Given the description of an element on the screen output the (x, y) to click on. 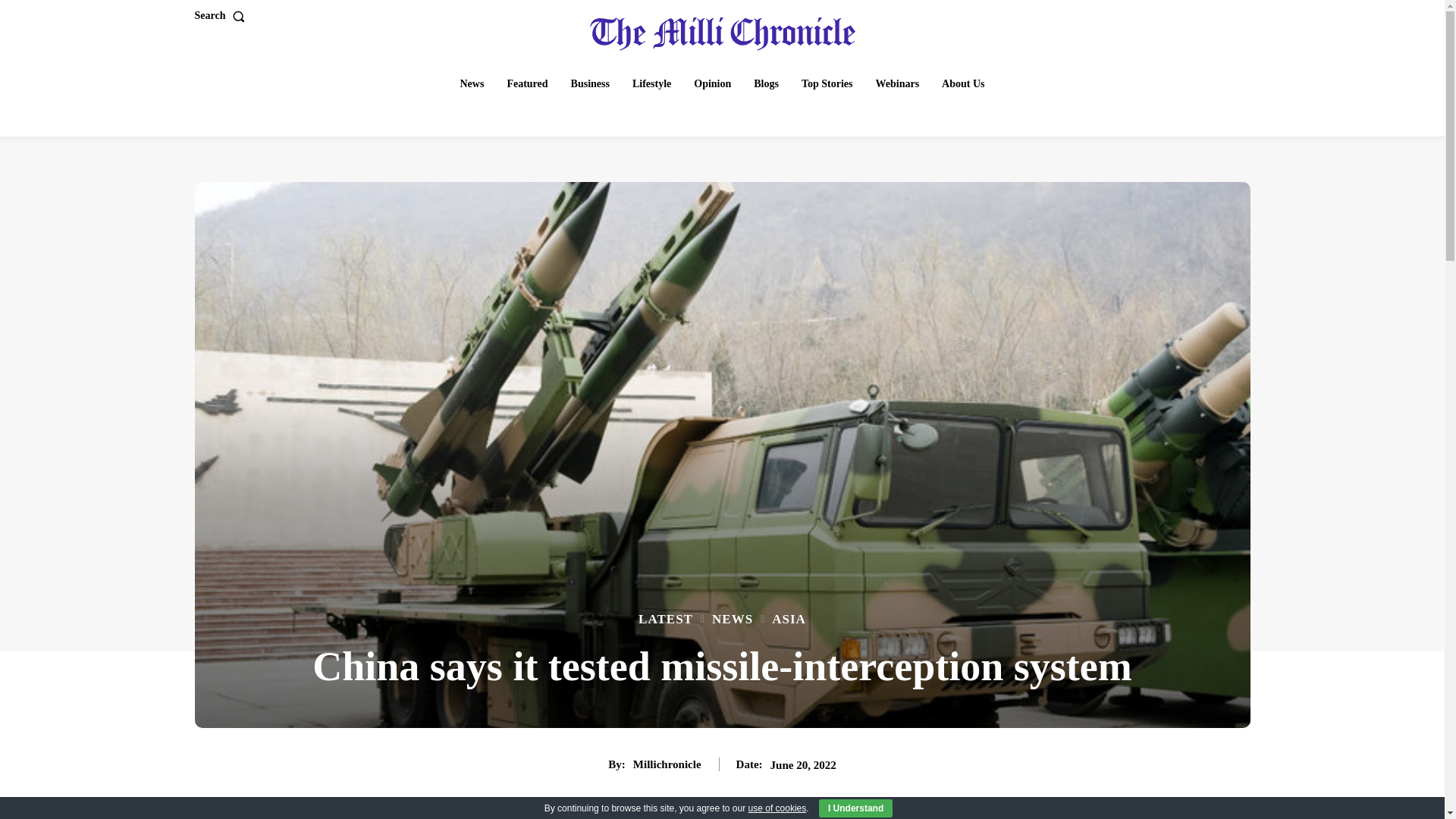
Business (590, 83)
Search (221, 15)
Lifestyle (651, 83)
News (471, 83)
Featured (526, 83)
